Given the description of an element on the screen output the (x, y) to click on. 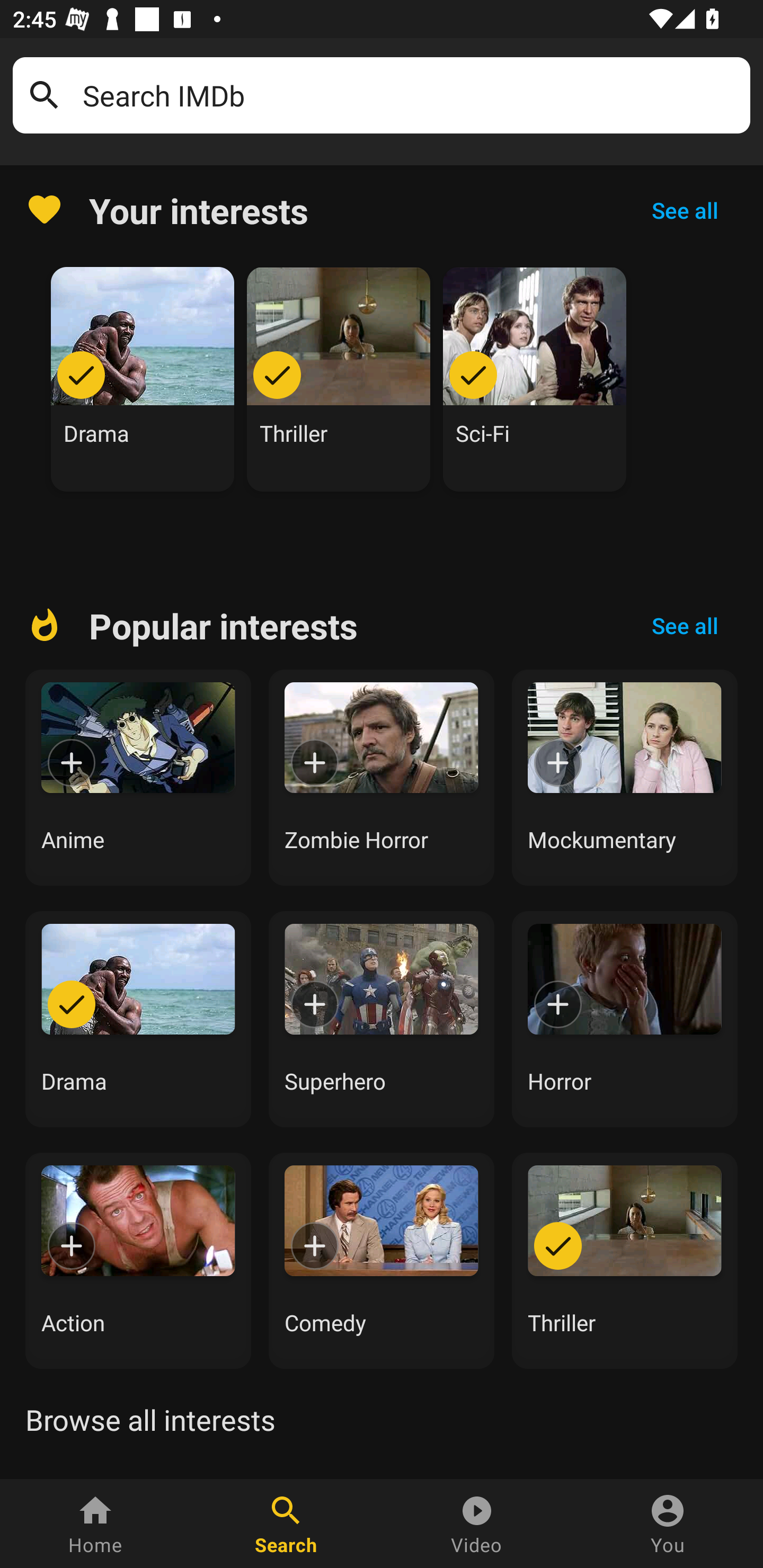
Search IMDb (410, 95)
See all (684, 209)
Drama (142, 379)
Thriller (338, 379)
Sci-Fi (534, 379)
See all (684, 625)
Anime (138, 777)
Zombie Horror (381, 777)
Mockumentary (624, 777)
Drama (138, 1018)
Superhero (381, 1018)
Horror (624, 1018)
Action (138, 1260)
Comedy (381, 1260)
Thriller (624, 1260)
Browse all interests (150, 1419)
Home (95, 1523)
Video (476, 1523)
You (667, 1523)
